Given the description of an element on the screen output the (x, y) to click on. 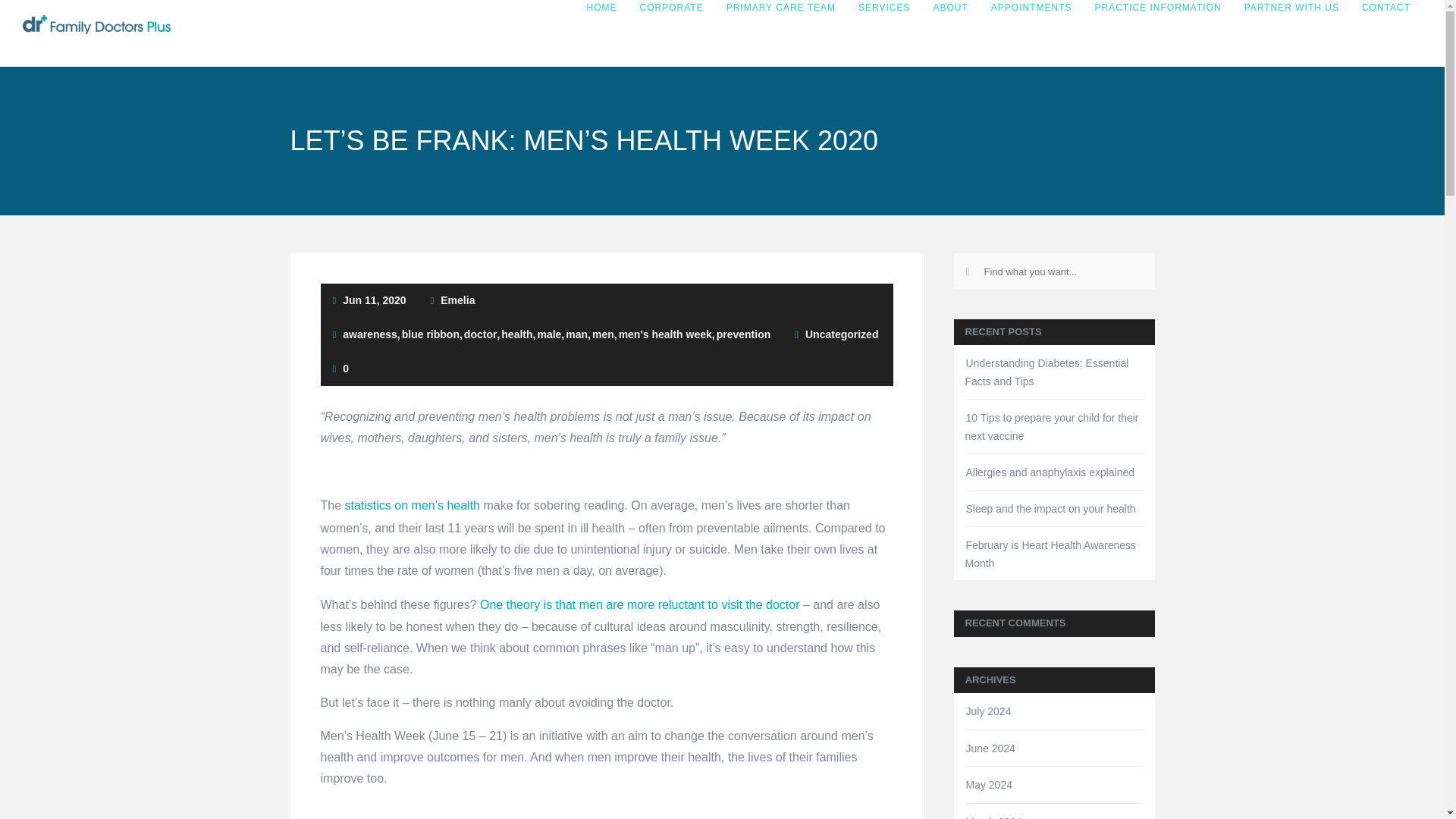
SERVICES (884, 7)
ABOUT (950, 7)
PRIMARY CARE TEAM (780, 7)
CORPORATE (671, 7)
PRACTICE INFORMATION (1158, 7)
HOME (601, 7)
APPOINTMENTS (1031, 7)
CONTACT (1386, 7)
PARTNER WITH US (1292, 7)
